Given the description of an element on the screen output the (x, y) to click on. 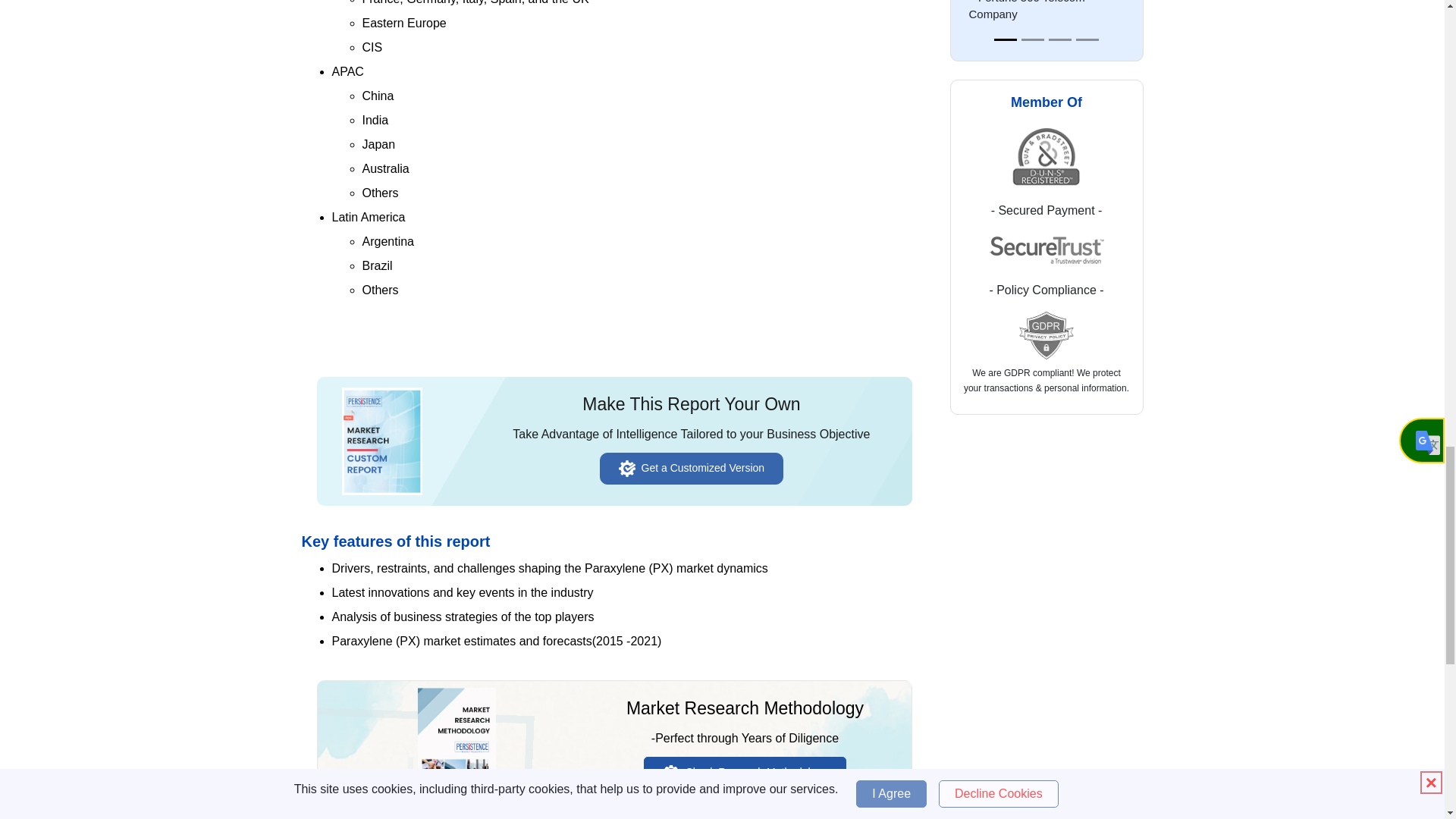
Previous (958, 30)
Check Research Methodology (744, 772)
